Given the description of an element on the screen output the (x, y) to click on. 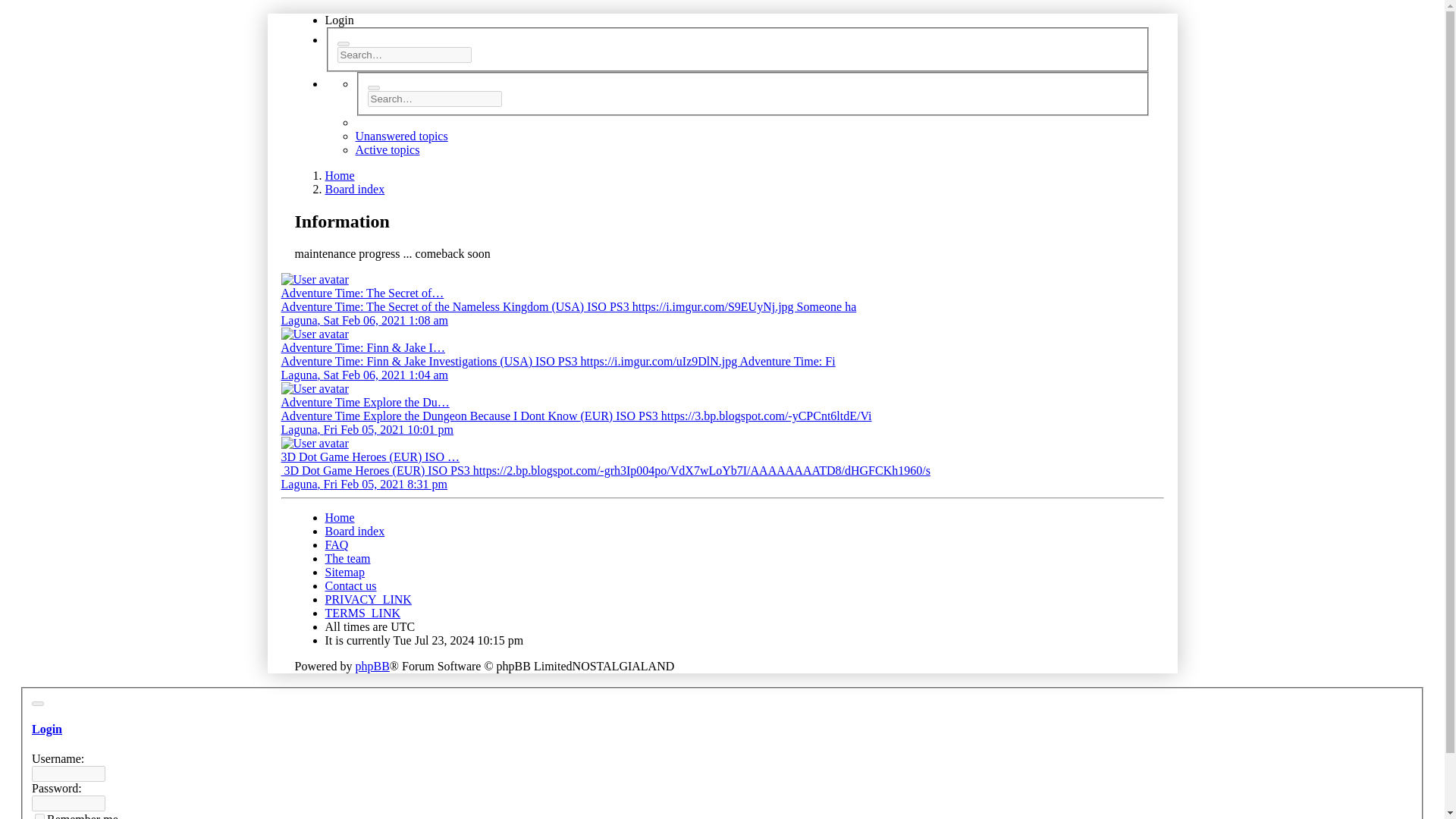
Unanswered topics (400, 135)
Search for keywords (403, 54)
UTC (402, 626)
Board index (354, 188)
Home (338, 174)
Sitemap (344, 571)
Search (342, 43)
Home (338, 517)
Active topics (387, 149)
Password (68, 803)
Search (372, 87)
Login (338, 19)
phpBB (371, 666)
Search for keywords (433, 98)
Board index (354, 530)
